Given the description of an element on the screen output the (x, y) to click on. 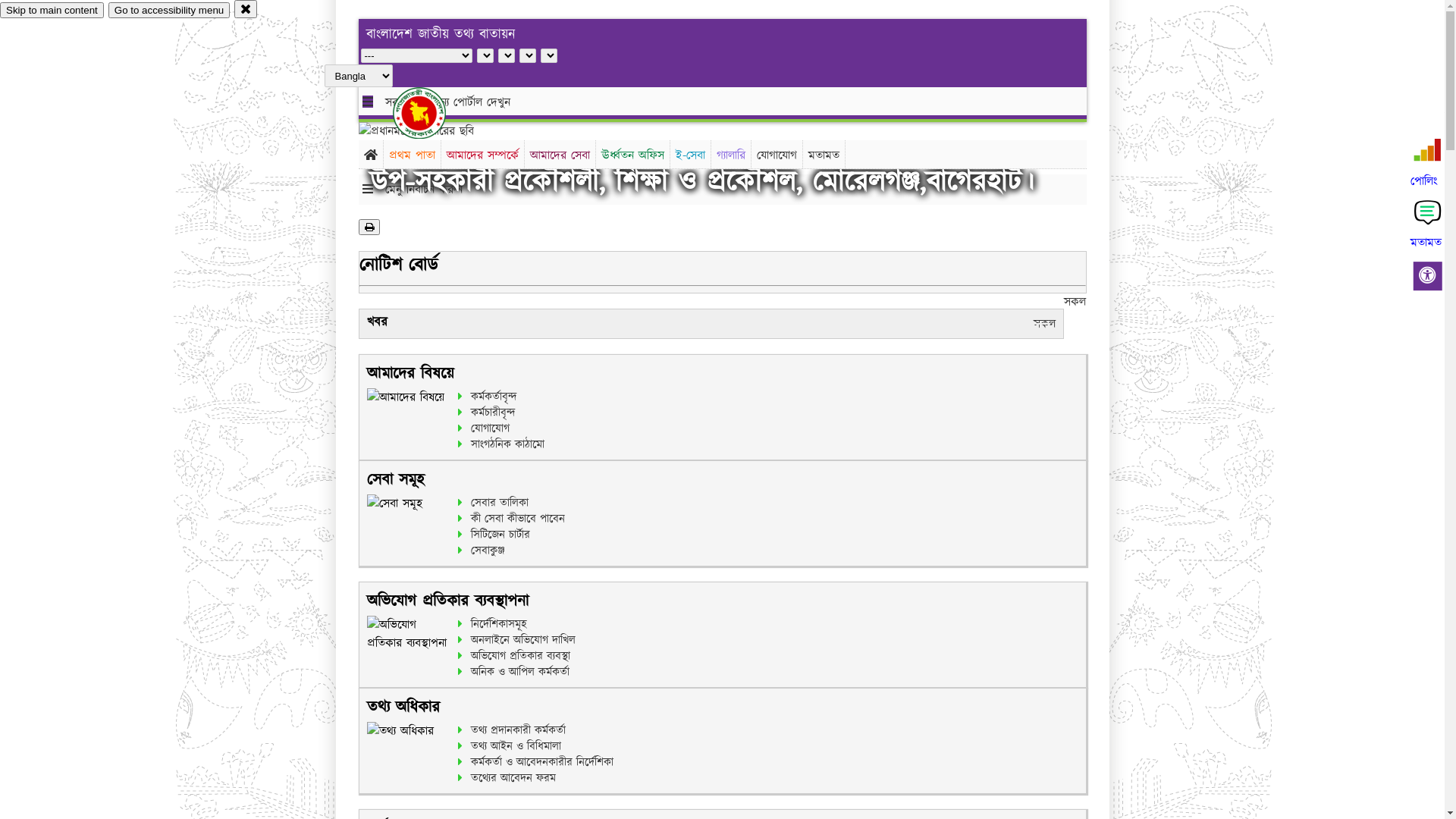
Go to accessibility menu Element type: text (168, 10)
close Element type: hover (245, 9)
Skip to main content Element type: text (51, 10)

                
             Element type: hover (431, 112)
